Given the description of an element on the screen output the (x, y) to click on. 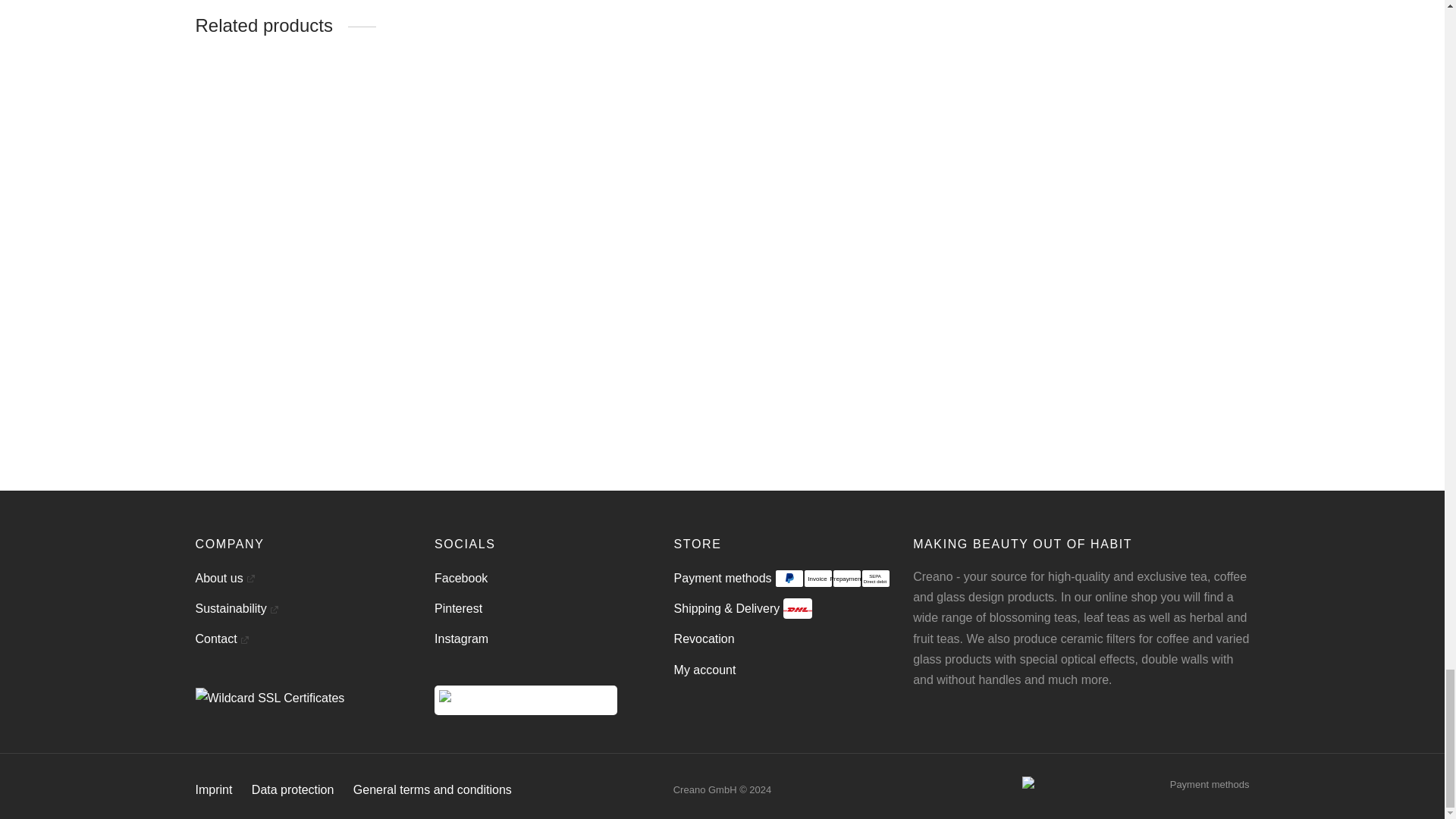
External link (831, 578)
External link (251, 578)
External link (244, 639)
